Given the description of an element on the screen output the (x, y) to click on. 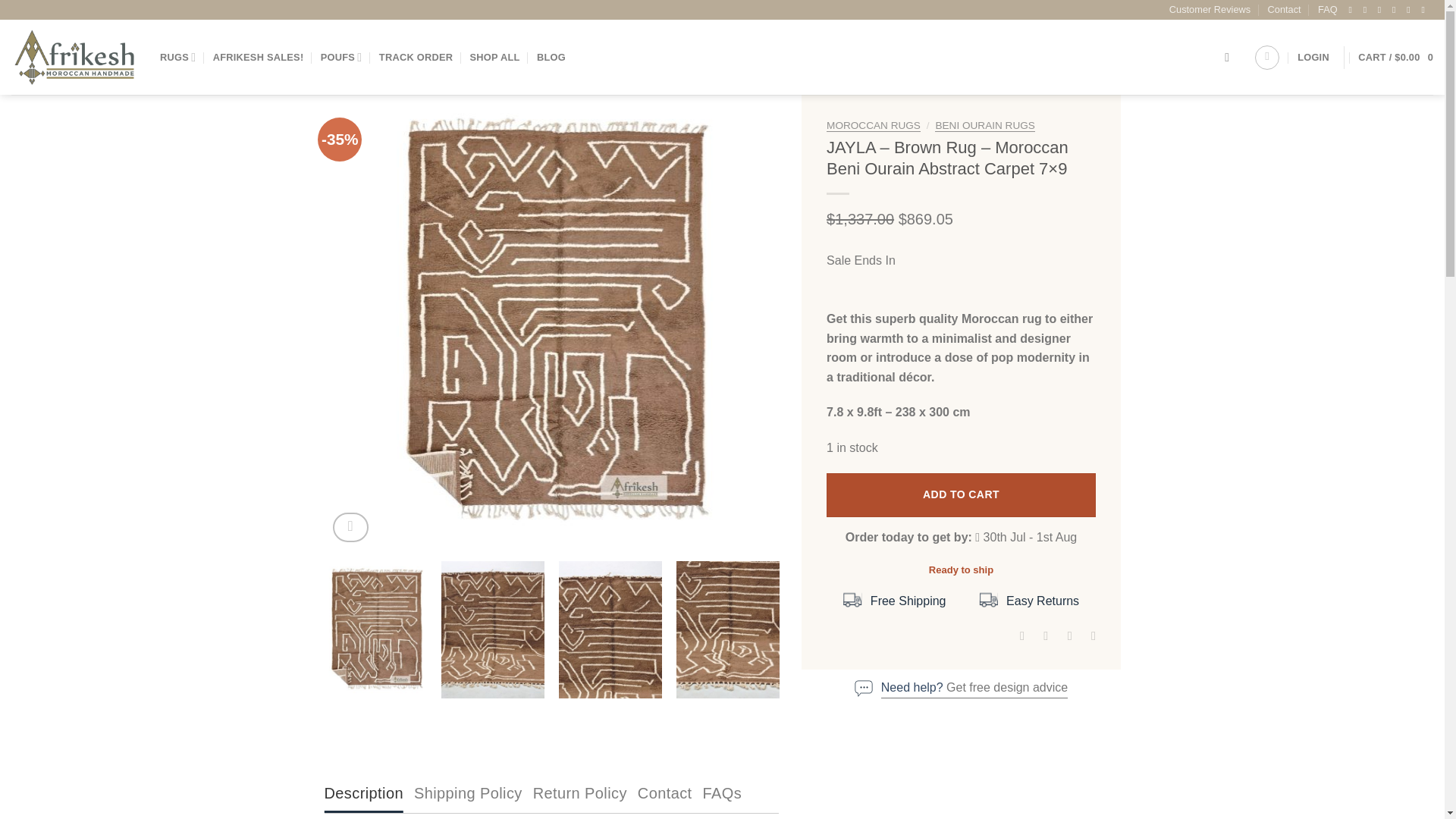
Contact (1284, 9)
Follow on Pinterest (1410, 9)
FAQ (1327, 9)
Share on Facebook (1018, 635)
Follow on YouTube (1425, 9)
Share on Twitter (1041, 635)
Login (1313, 57)
Follow on Facebook (1352, 9)
RUGS (177, 57)
Follow on Instagram (1367, 9)
Send us an email (1395, 9)
Wishlist (1267, 57)
Zoom (350, 527)
Customer Reviews (1209, 9)
